Given the description of an element on the screen output the (x, y) to click on. 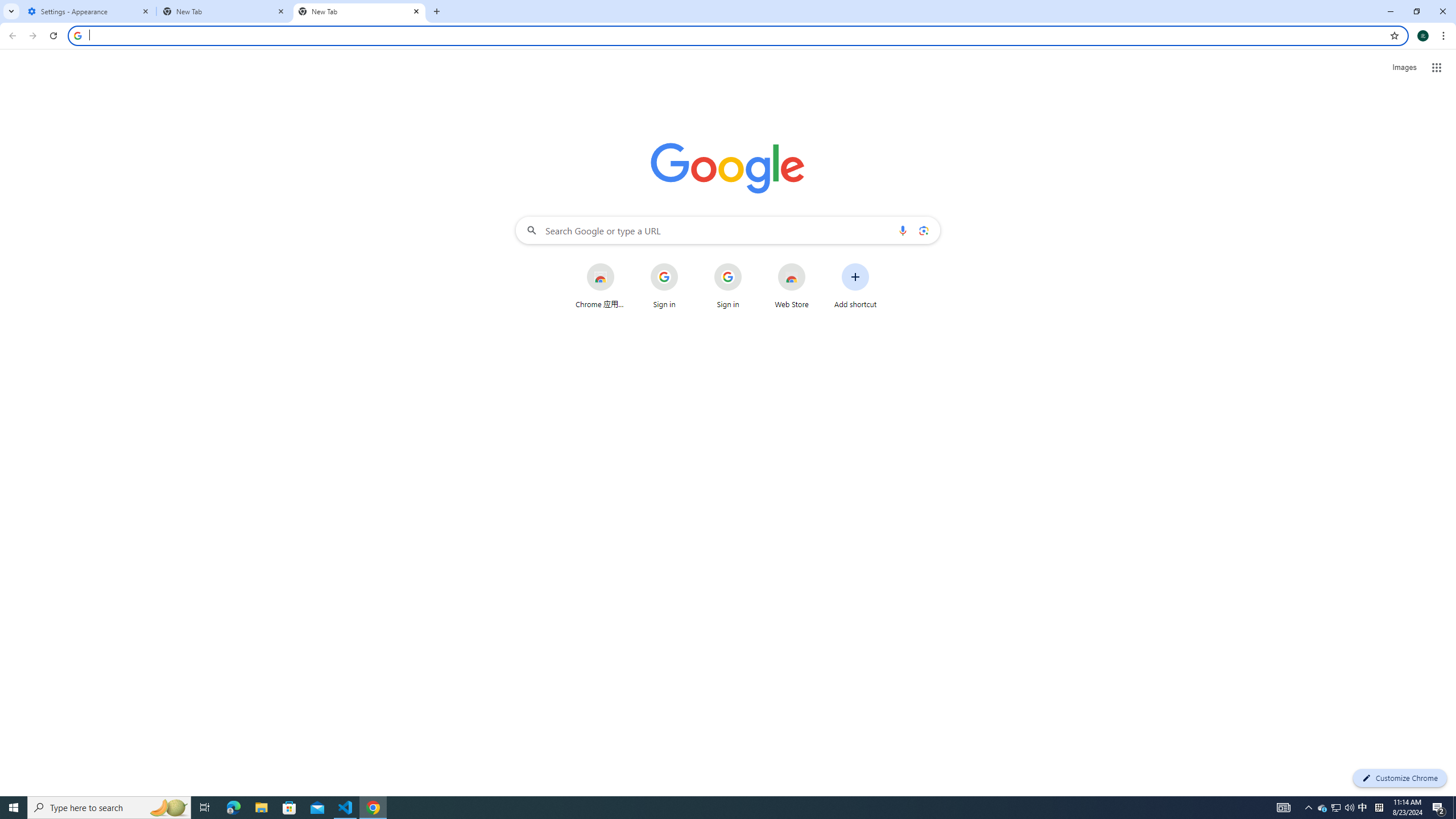
More actions for Web Store shortcut (814, 264)
